Given the description of an element on the screen output the (x, y) to click on. 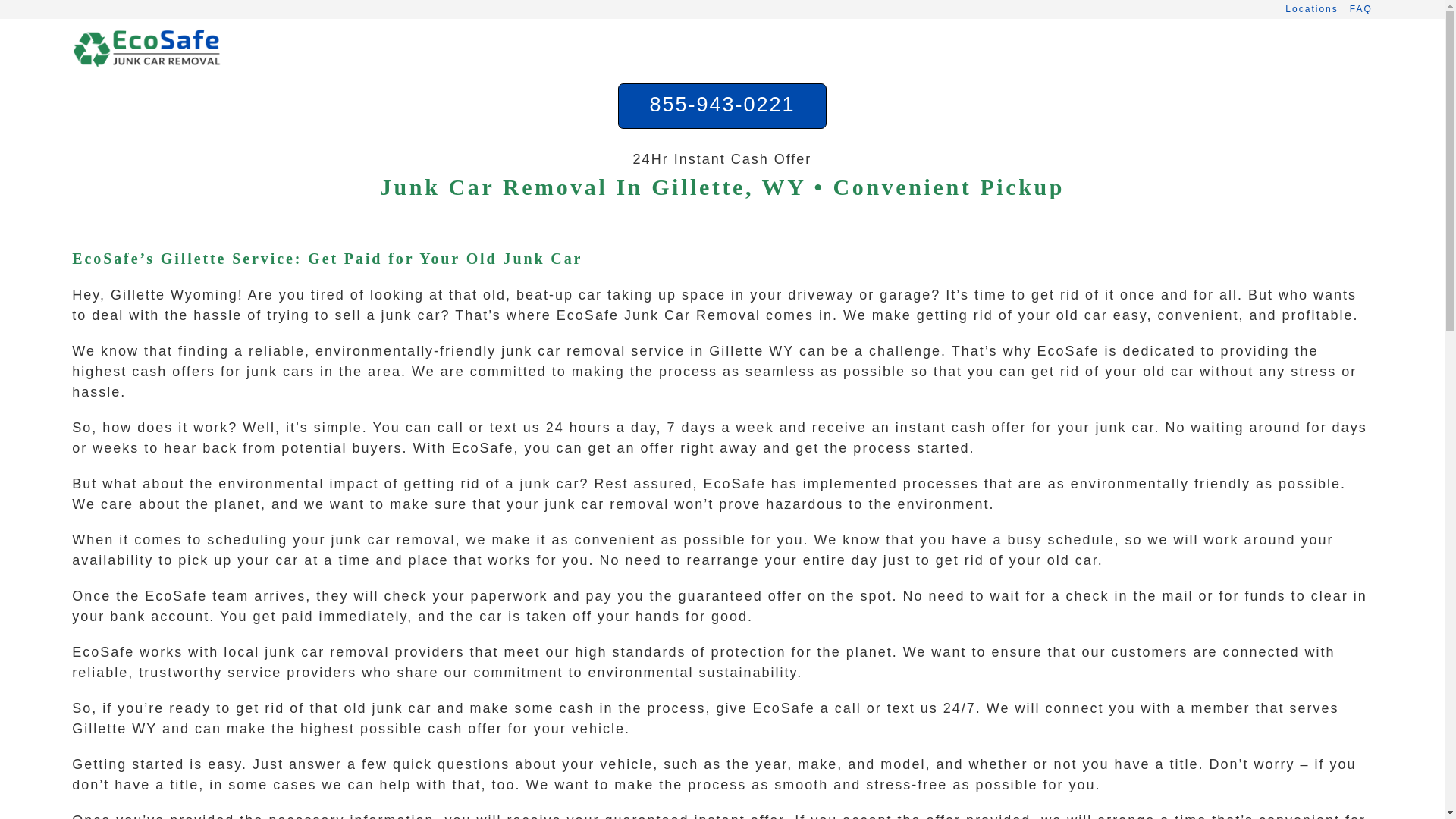
FAQ (1361, 9)
855-943-0221 (722, 105)
Locations (1311, 9)
